Given the description of an element on the screen output the (x, y) to click on. 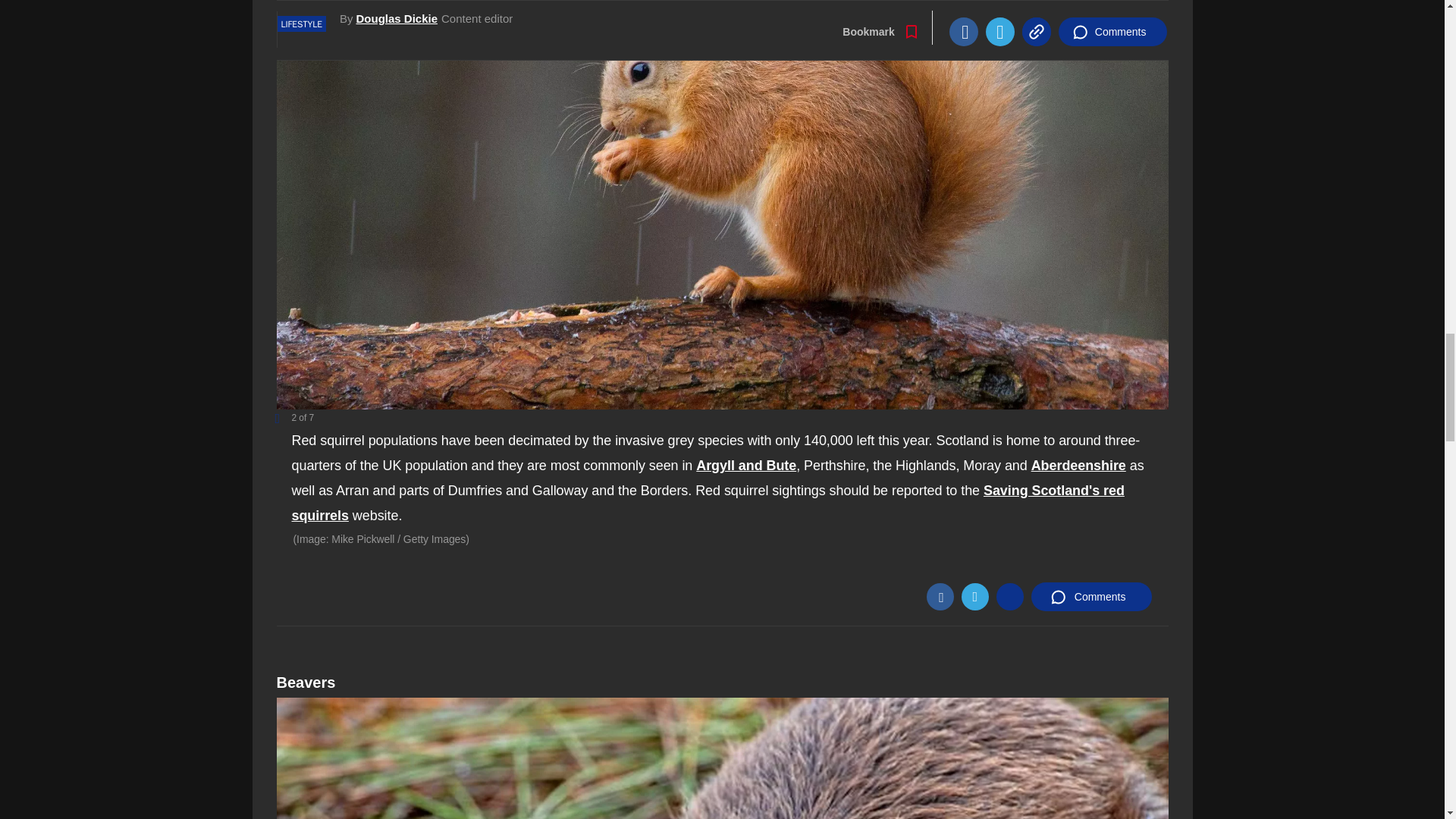
Facebook (939, 596)
Comments (1090, 596)
Twitter (974, 596)
